Given the description of an element on the screen output the (x, y) to click on. 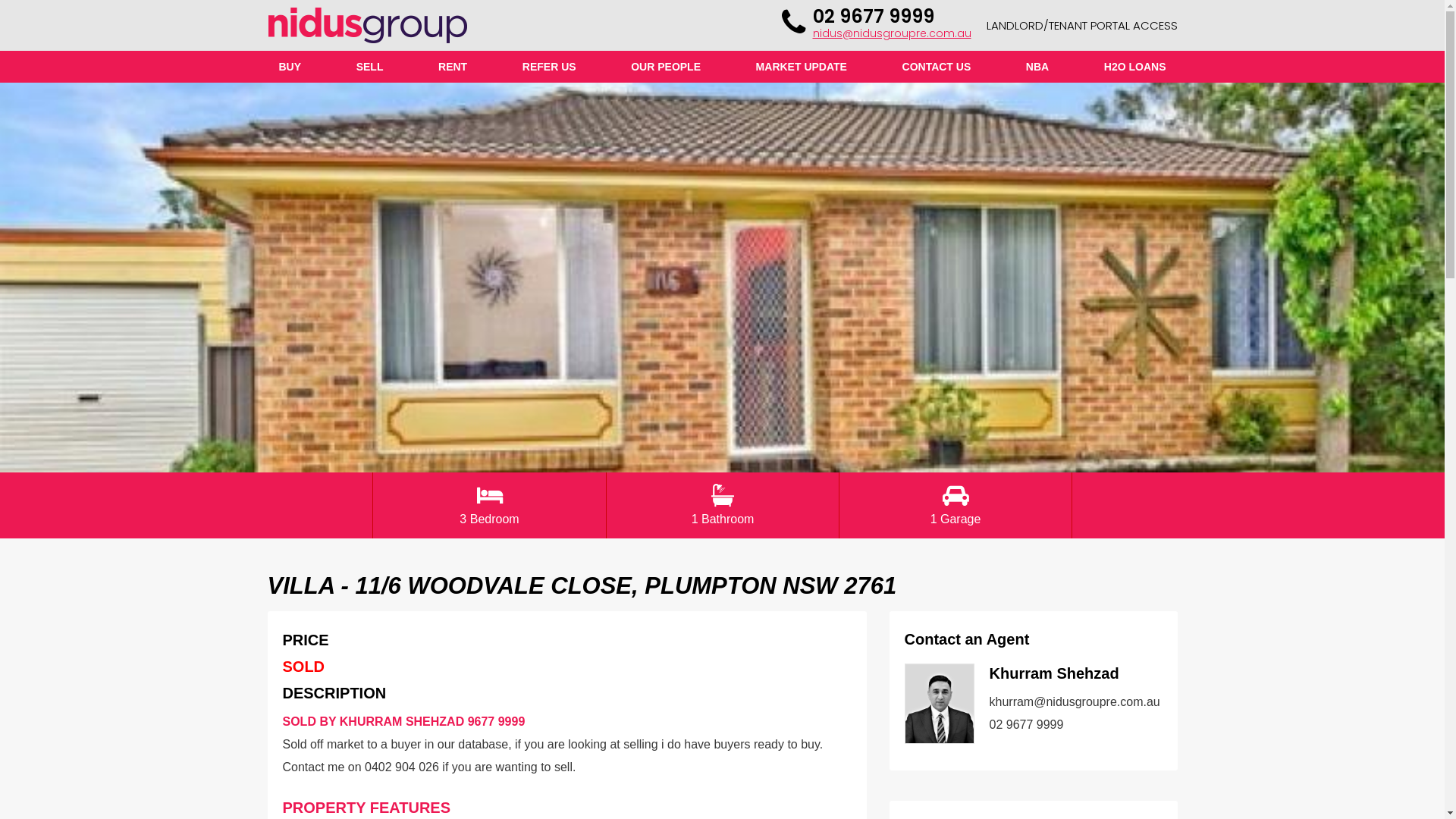
MARKET UPDATE Element type: text (801, 66)
SELL Element type: text (370, 66)
BUY Element type: text (289, 66)
NBA Element type: text (1037, 66)
REFER US Element type: text (549, 66)
LANDLORD/TENANT PORTAL ACCESS Element type: text (1080, 25)
nidus@nidusgroupre.com.au Element type: text (891, 33)
RENT Element type: text (452, 66)
CONTACT US Element type: text (936, 66)
khurram@nidusgroupre.com.au Element type: text (1073, 701)
02 9677 9999 Element type: text (873, 16)
02 9677 9999 Element type: text (1025, 724)
OUR PEOPLE Element type: text (665, 66)
H2O LOANS Element type: text (1134, 66)
